Given the description of an element on the screen output the (x, y) to click on. 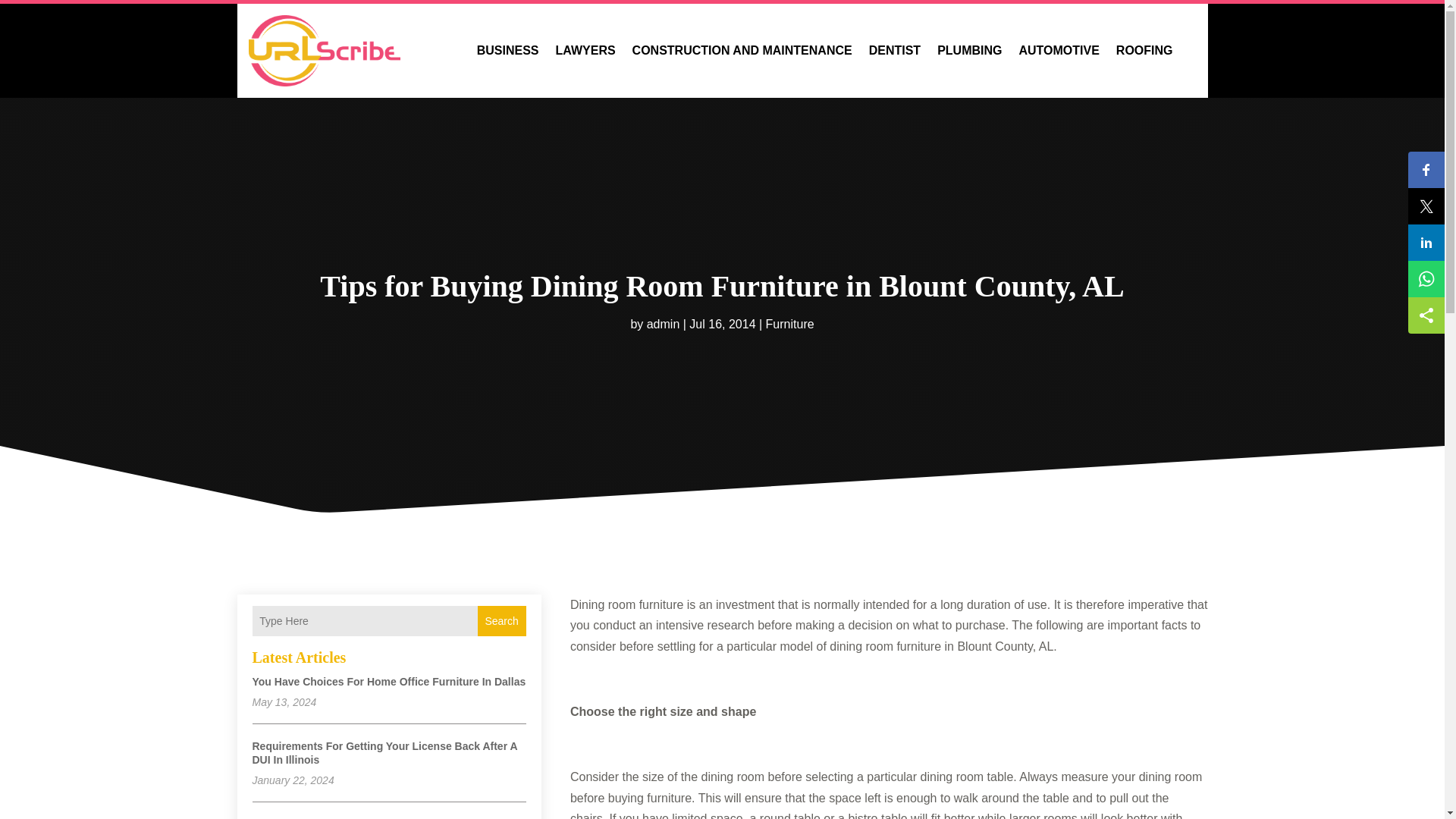
AUTOMOTIVE (1058, 50)
PLUMBING (969, 50)
Posts by admin (662, 323)
admin (662, 323)
Furniture (789, 323)
Search (501, 621)
You Have Choices For Home Office Furniture In Dallas (388, 681)
CONSTRUCTION AND MAINTENANCE (741, 50)
